Given the description of an element on the screen output the (x, y) to click on. 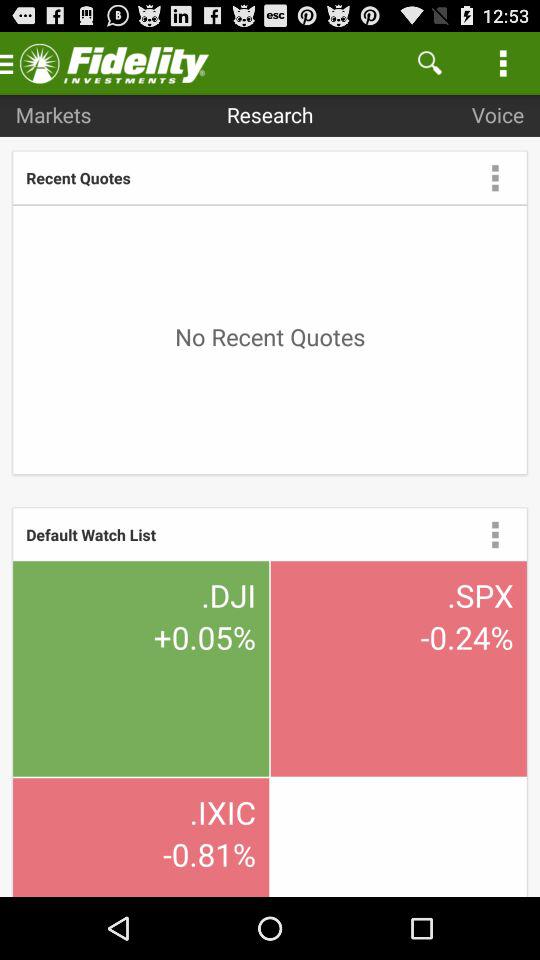
this button is used to find a some other hidden options (495, 177)
